Given the description of an element on the screen output the (x, y) to click on. 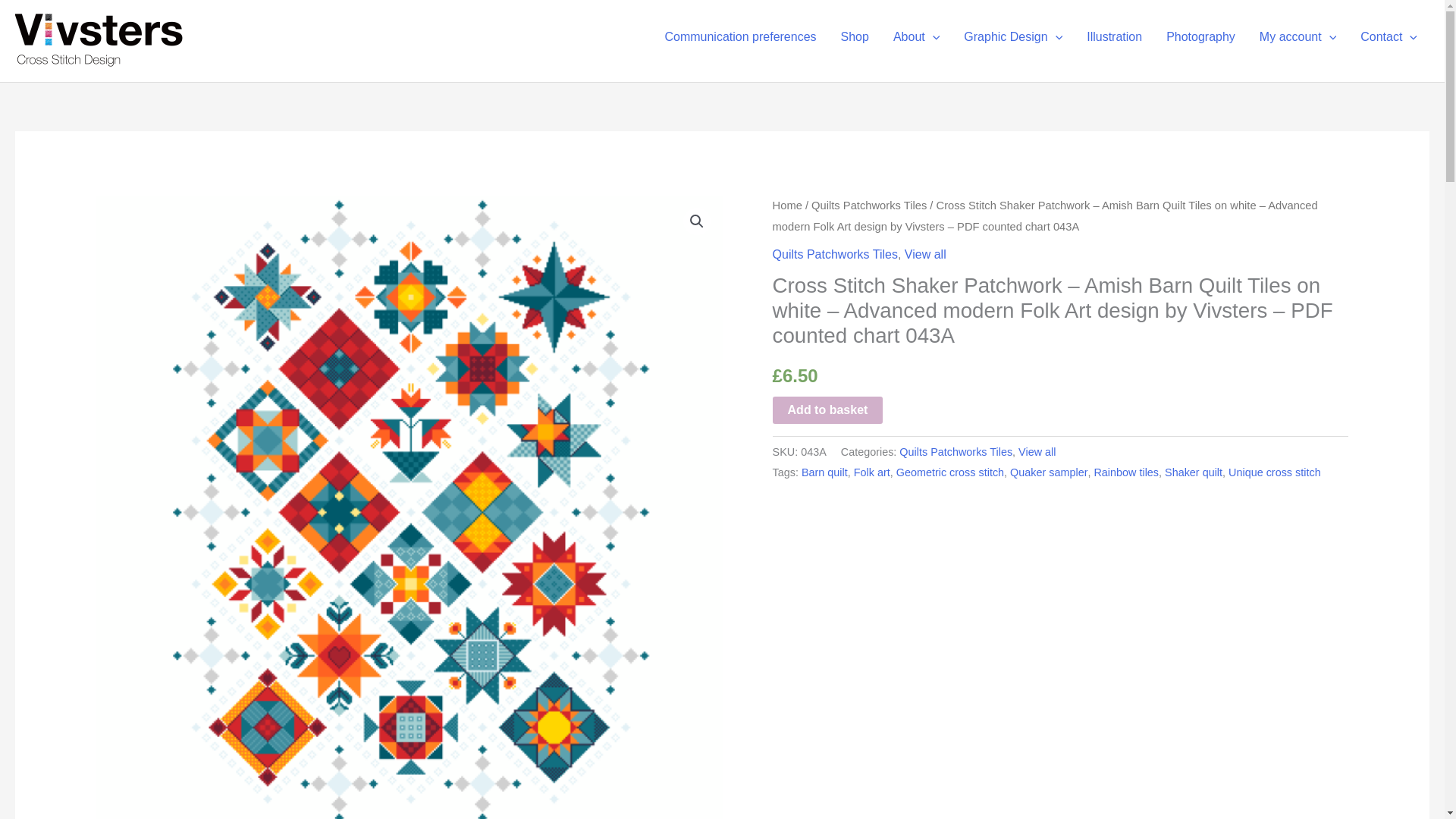
Communication preferences (740, 36)
Illustration (1114, 36)
About (916, 36)
Photography (1200, 36)
Shop (854, 36)
Graphic Design (1013, 36)
Contact (1388, 36)
My account (1297, 36)
